Given the description of an element on the screen output the (x, y) to click on. 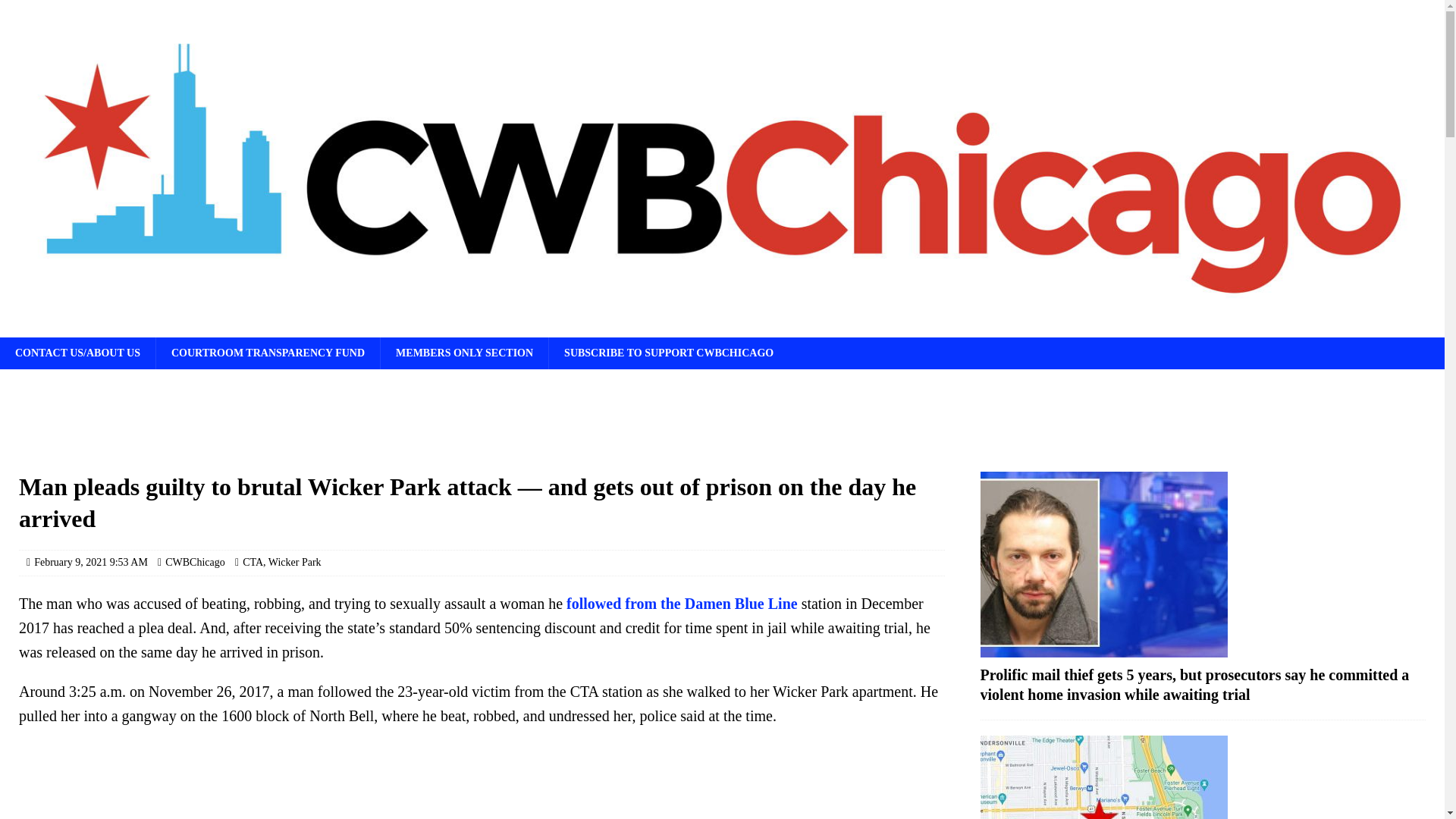
followed from the Damen Blue Line (681, 603)
February 9, 2021 9:53 AM (90, 562)
SUBSCRIBE TO SUPPORT CWBCHICAGO (668, 353)
CTA (253, 562)
MEMBERS ONLY SECTION (464, 353)
COURTROOM TRANSPARENCY FUND (267, 353)
CWBChicago (195, 562)
Wicker Park (294, 562)
15-year-old shot in Uptown on Wednesday night (1202, 777)
